Given the description of an element on the screen output the (x, y) to click on. 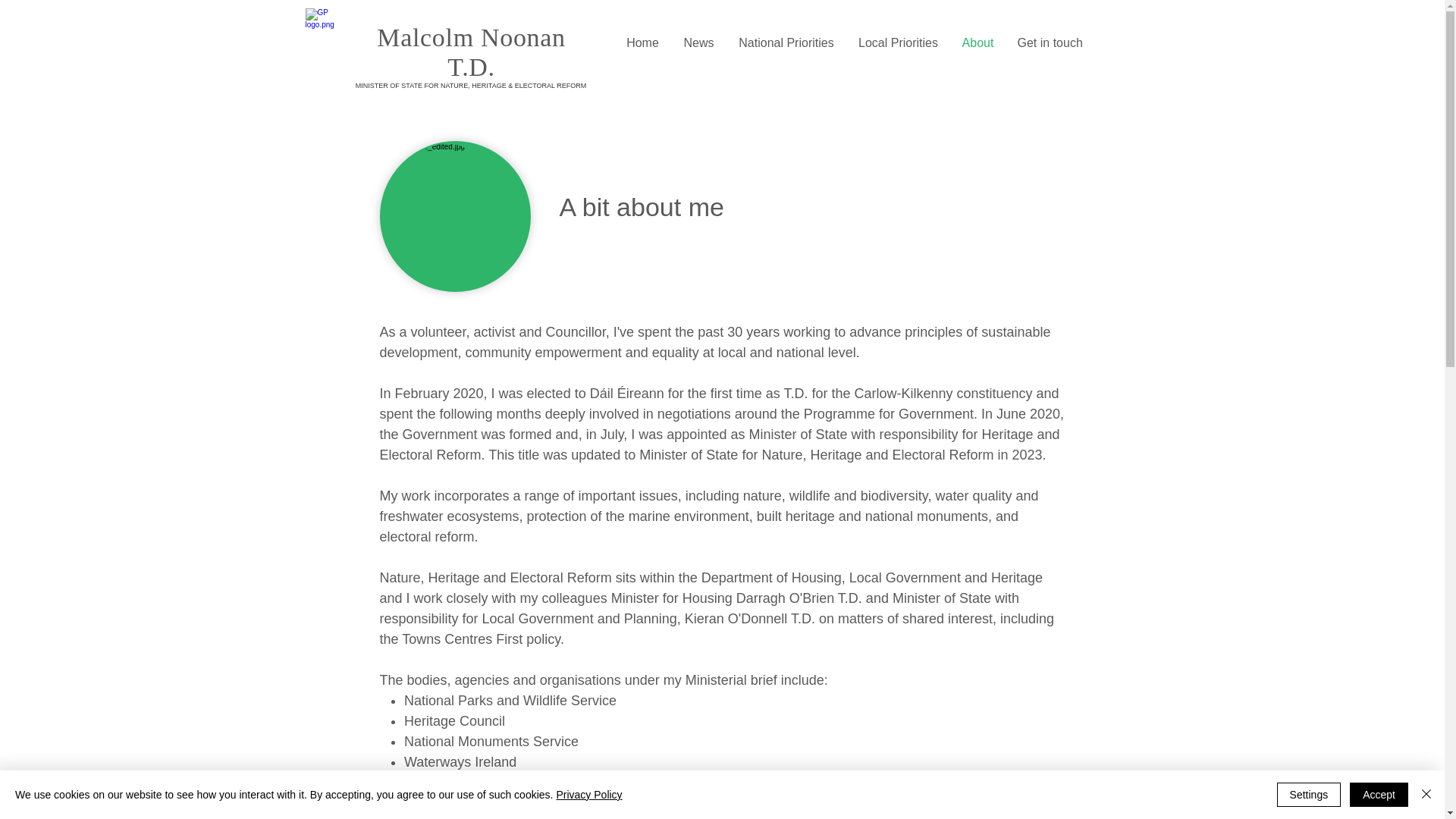
National Priorities (785, 42)
Malcolm Noonan T.D. (470, 52)
Privacy Policy (588, 794)
Get in touch (1049, 42)
Home (641, 42)
About (978, 42)
Local Priorities (897, 42)
Settings (1308, 794)
Accept (1378, 794)
News (698, 42)
